Given the description of an element on the screen output the (x, y) to click on. 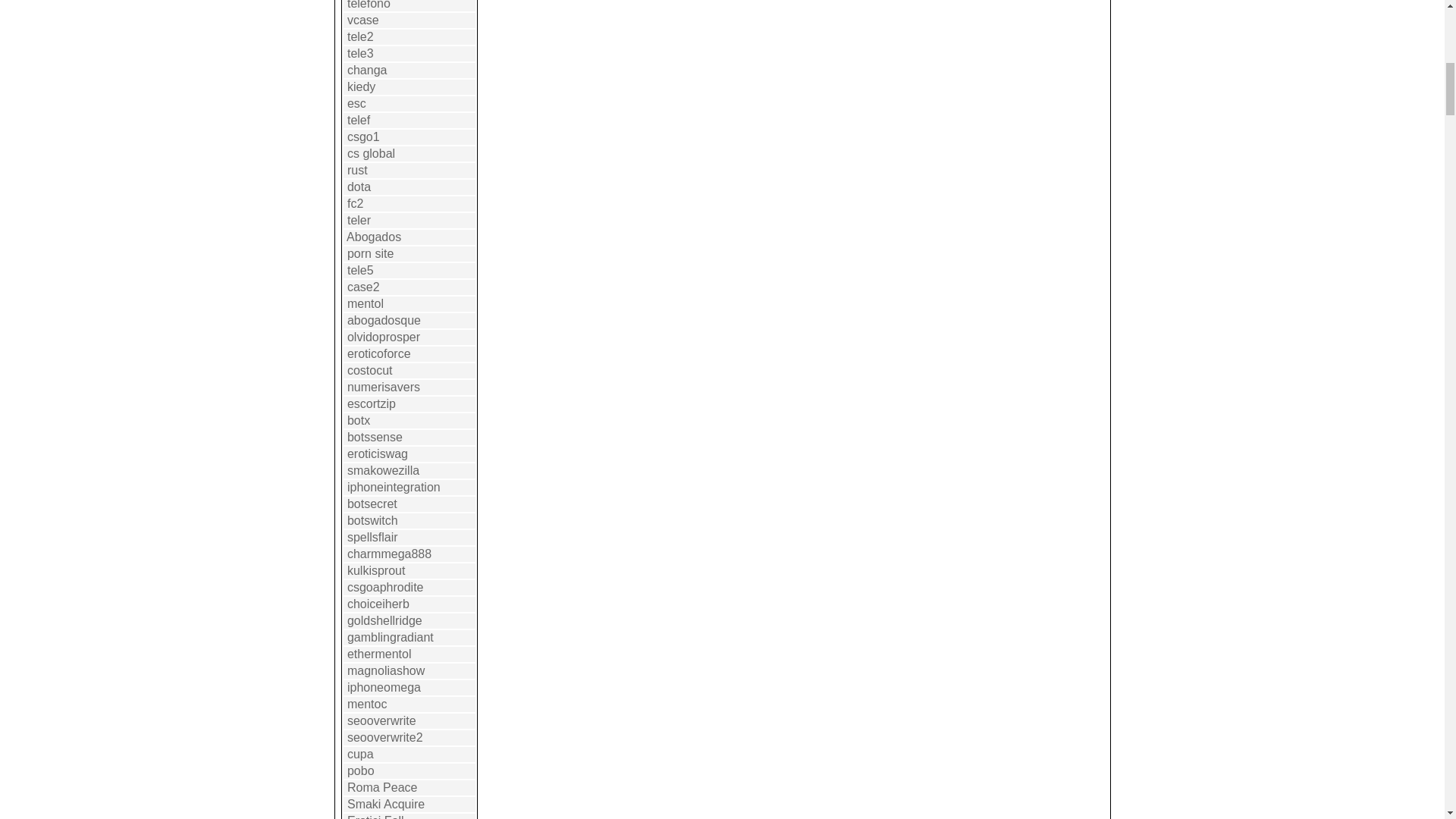
tele2 (360, 36)
vcase (362, 19)
telefono (368, 4)
